Given the description of an element on the screen output the (x, y) to click on. 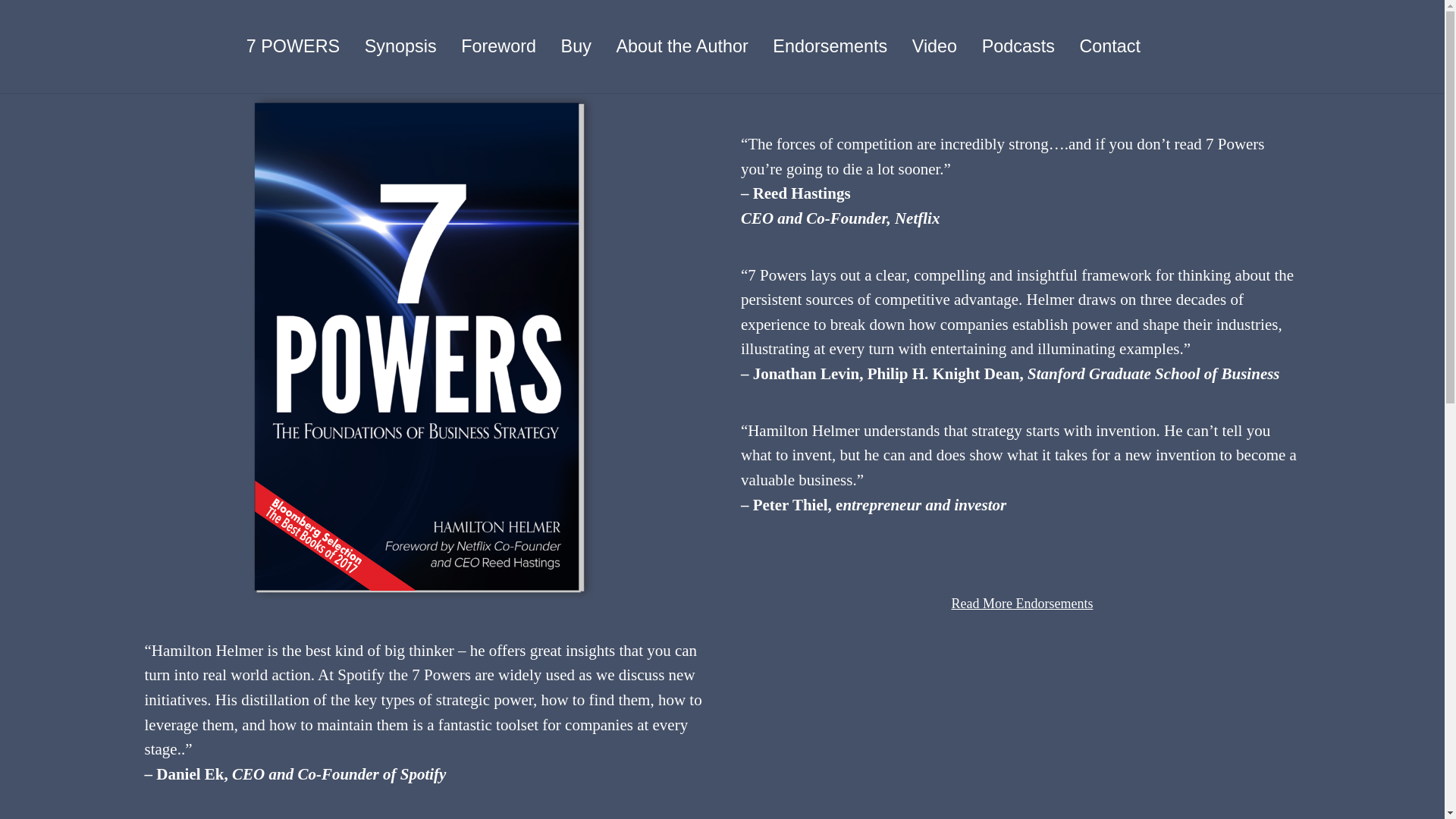
7 POWERS (292, 46)
Foreword (498, 46)
Contact (1109, 46)
Synopsis (399, 46)
Video (934, 46)
Podcasts (1018, 46)
Buy (576, 46)
Endorsements (829, 46)
About the Author (681, 46)
Read More Endorsements (1021, 603)
